Given the description of an element on the screen output the (x, y) to click on. 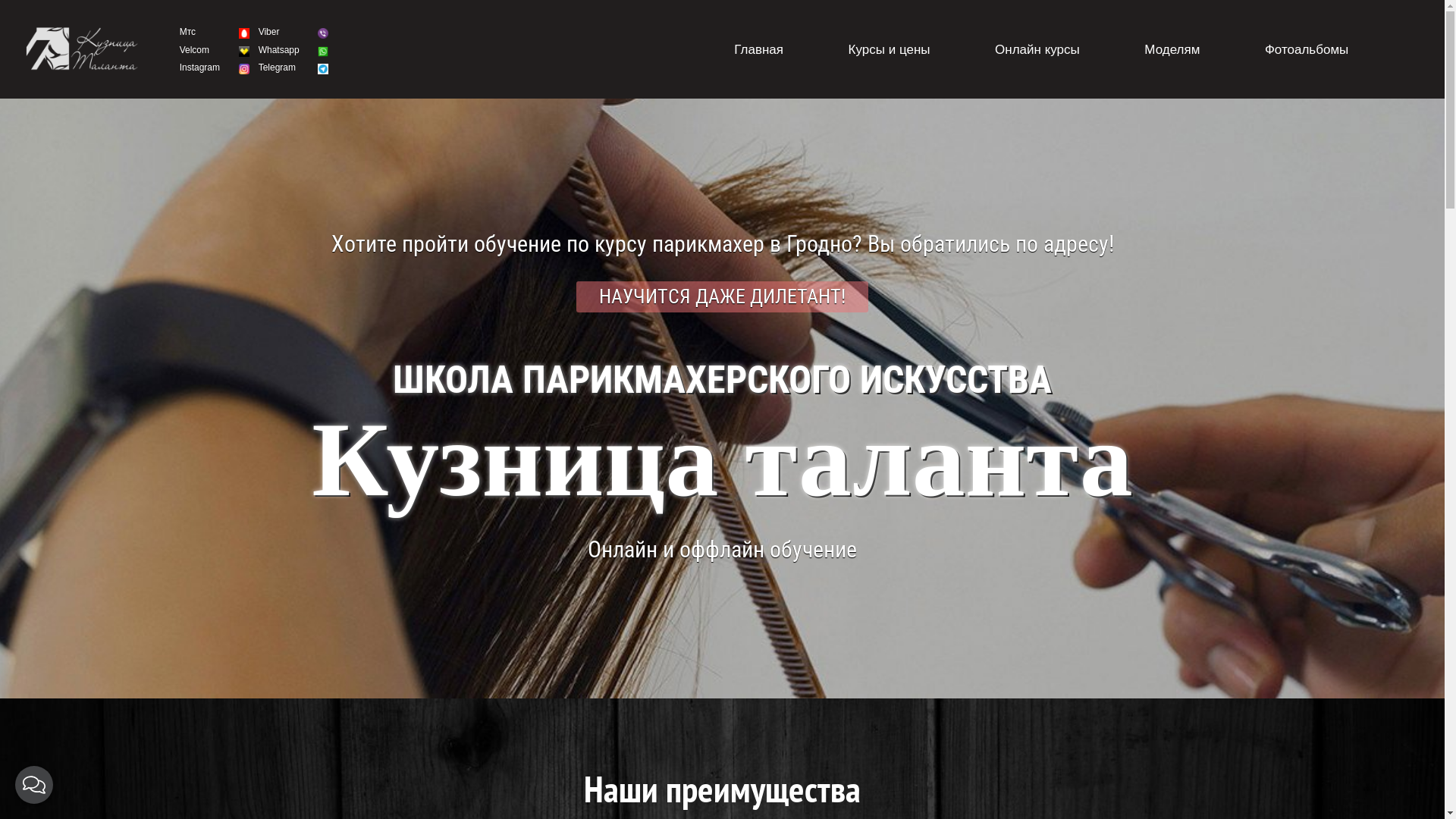
Viber Element type: text (268, 31)
Telegram Element type: text (276, 67)
Whatsapp Element type: text (278, 49)
Velcom Element type: text (194, 49)
Instagram Element type: text (199, 67)
